Given the description of an element on the screen output the (x, y) to click on. 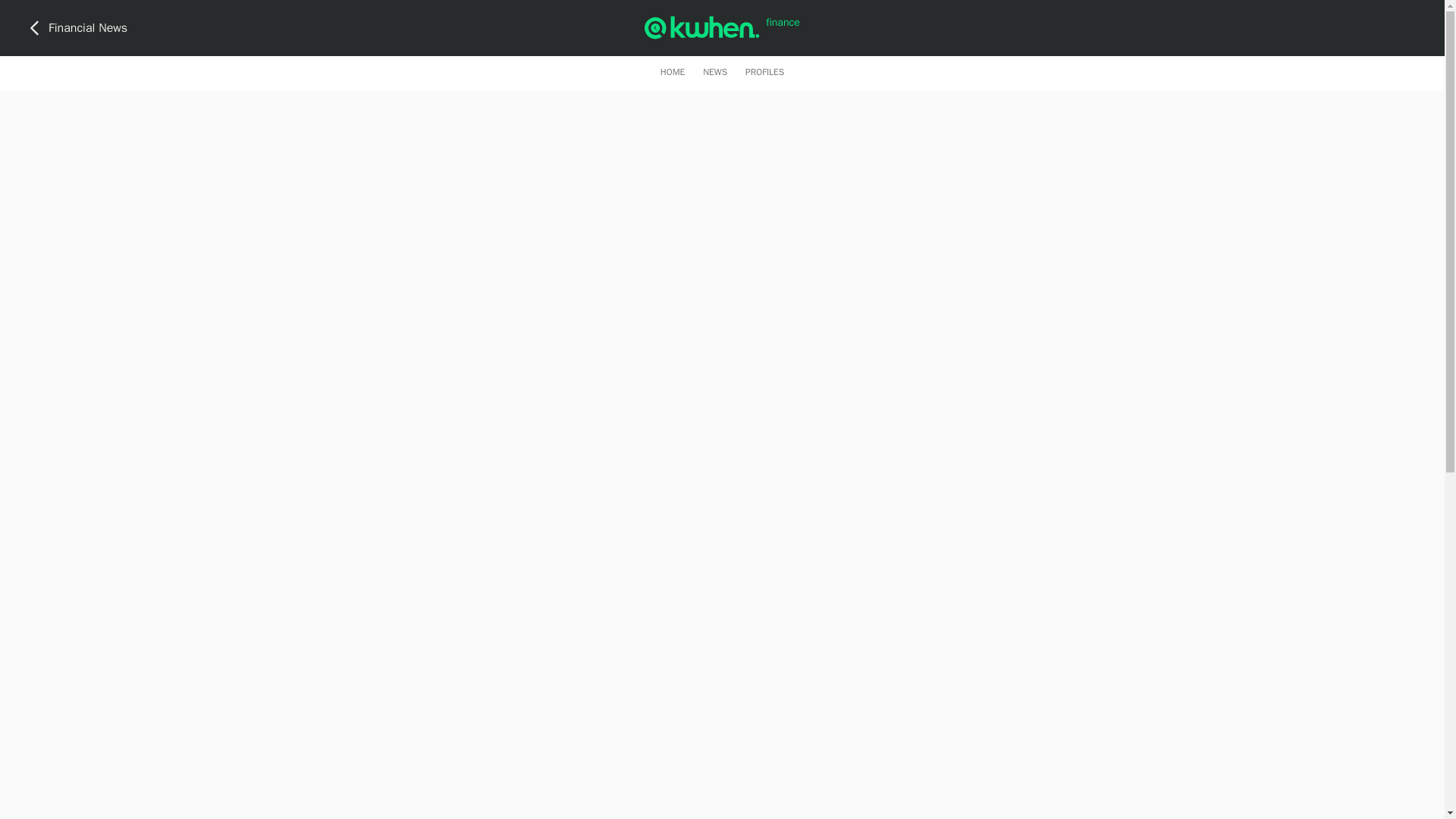
PROFILES (764, 71)
HOME (672, 71)
NEWS (714, 71)
Financial News (76, 27)
